Given the description of an element on the screen output the (x, y) to click on. 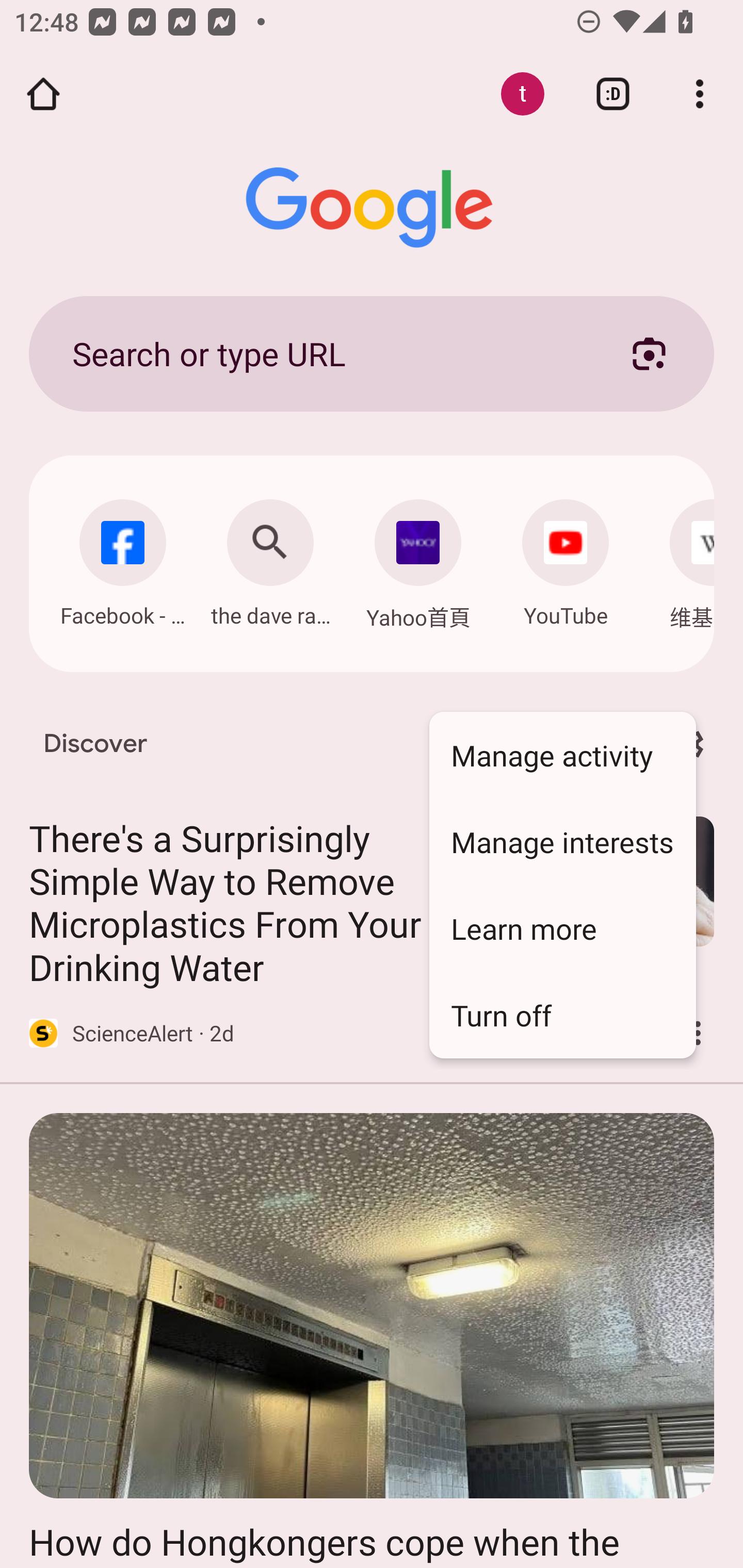
Manage activity (562, 754)
Manage interests (562, 841)
Learn more (562, 928)
Turn off (562, 1015)
